Given the description of an element on the screen output the (x, y) to click on. 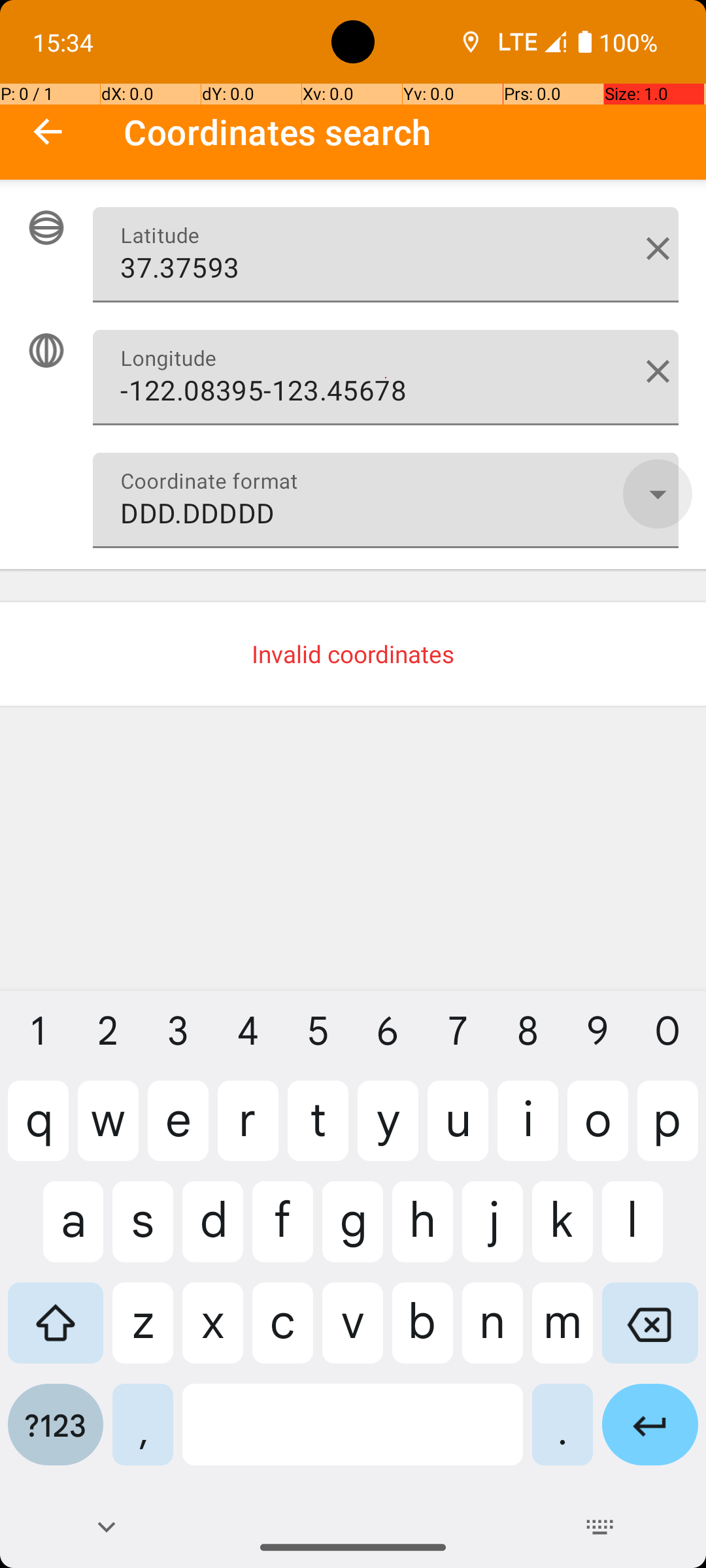
Coordinates search Element type: android.widget.TextView (414, 131)
37.37593 Element type: android.widget.EditText (385, 254)
-122.08395-123.45678 Element type: android.widget.EditText (385, 377)
DDD.DDDDD Element type: android.widget.EditText (385, 500)
Coordinate format Element type: android.widget.ImageButton (657, 493)
Invalid coordinates Element type: android.widget.TextView (352, 653)
